Given the description of an element on the screen output the (x, y) to click on. 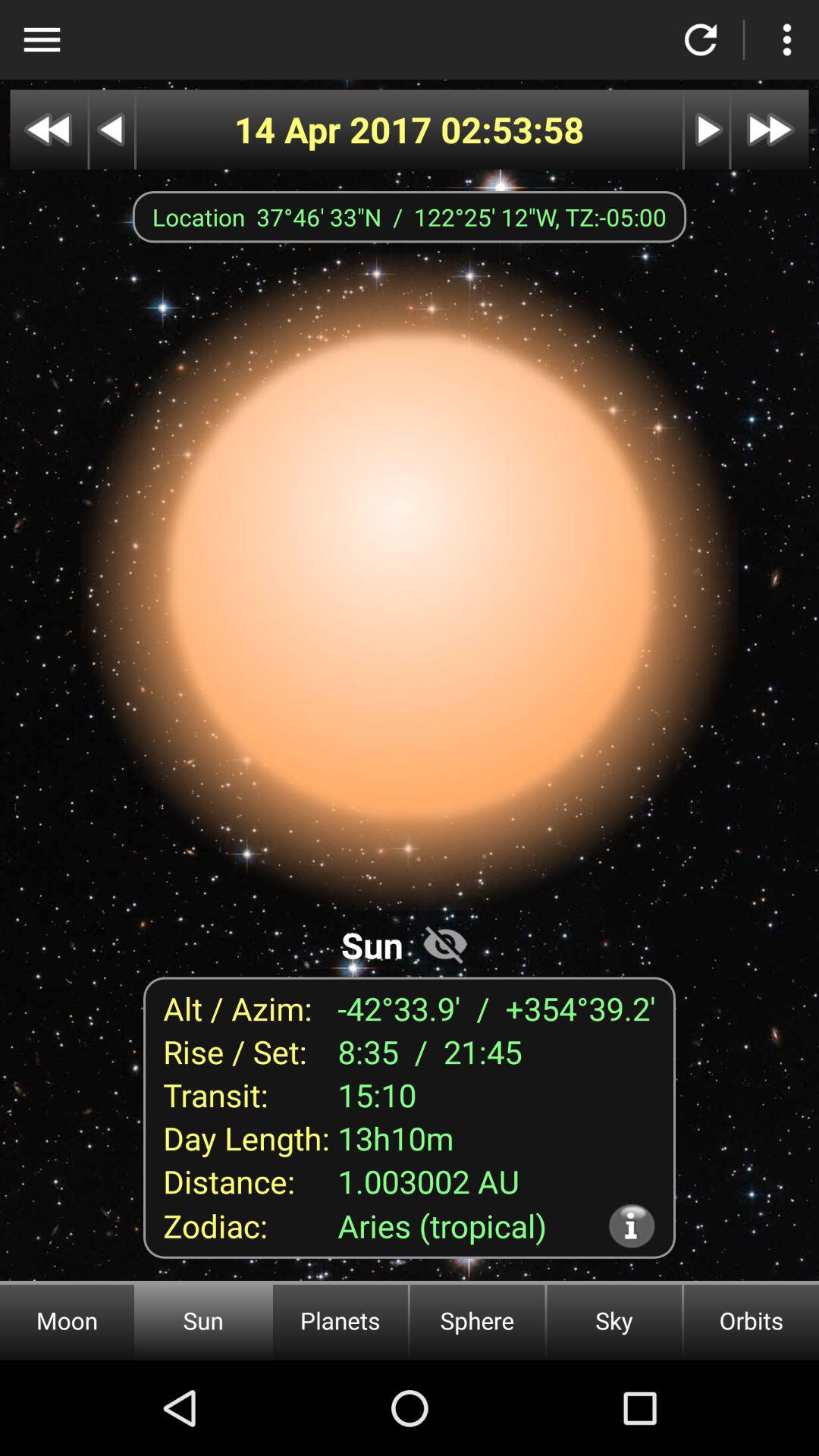
go back to start (48, 129)
